Given the description of an element on the screen output the (x, y) to click on. 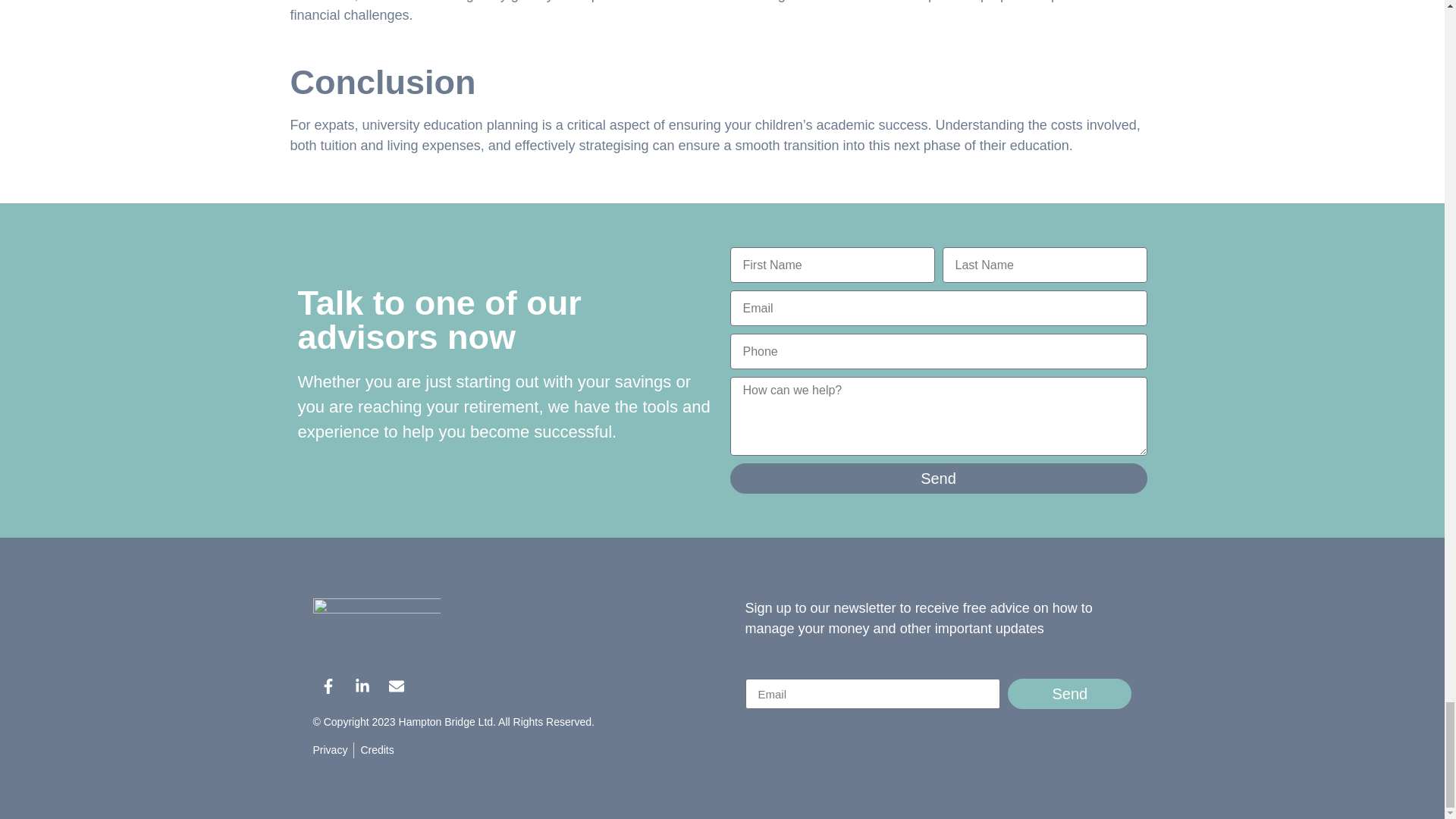
Send (938, 478)
Send (1069, 693)
Credits (376, 750)
Privacy (330, 750)
